Given the description of an element on the screen output the (x, y) to click on. 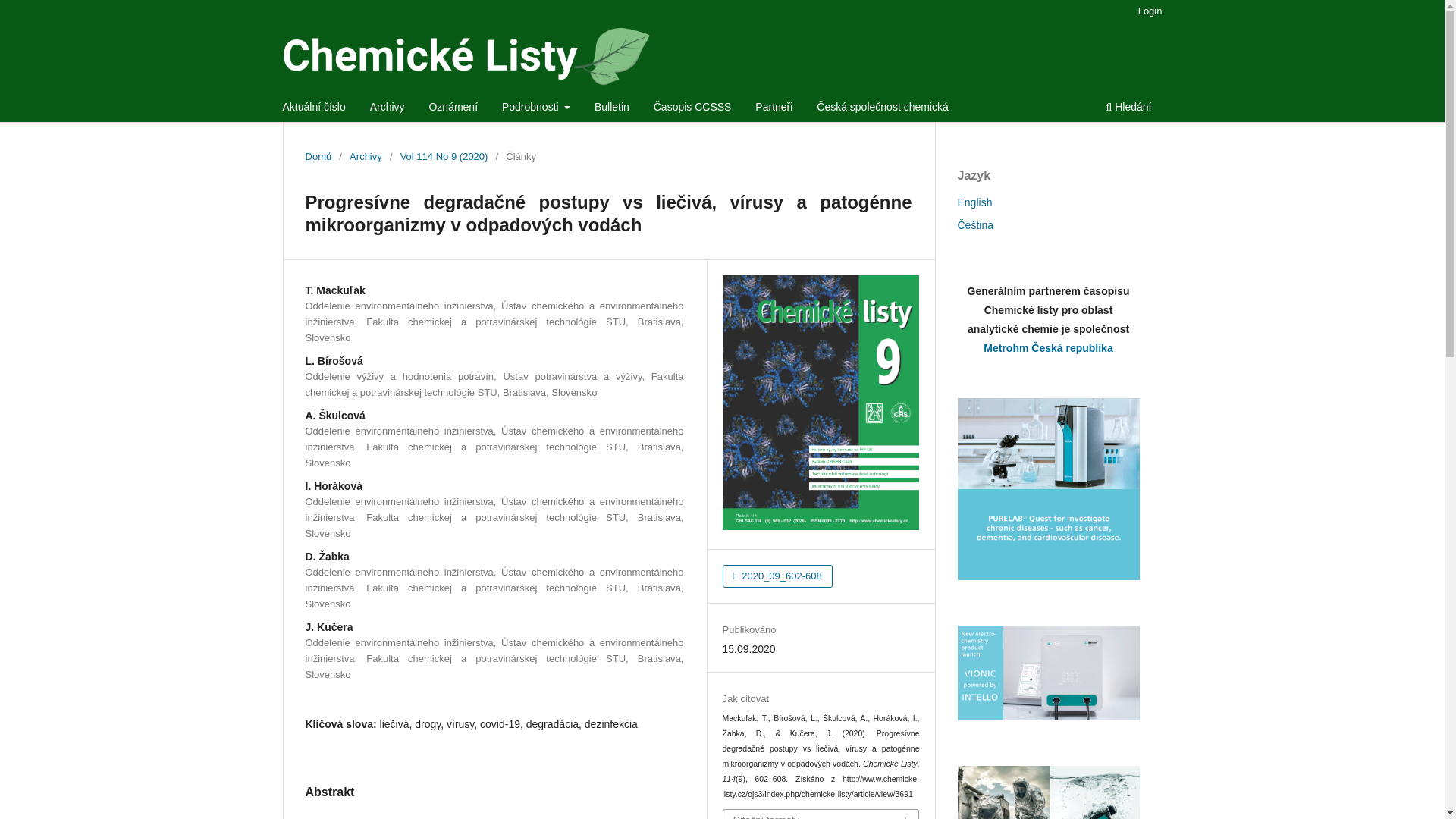
Bulletin (611, 108)
Podrobnosti (535, 108)
Archivy (365, 156)
Login (1150, 11)
Archivy (387, 108)
